Given the description of an element on the screen output the (x, y) to click on. 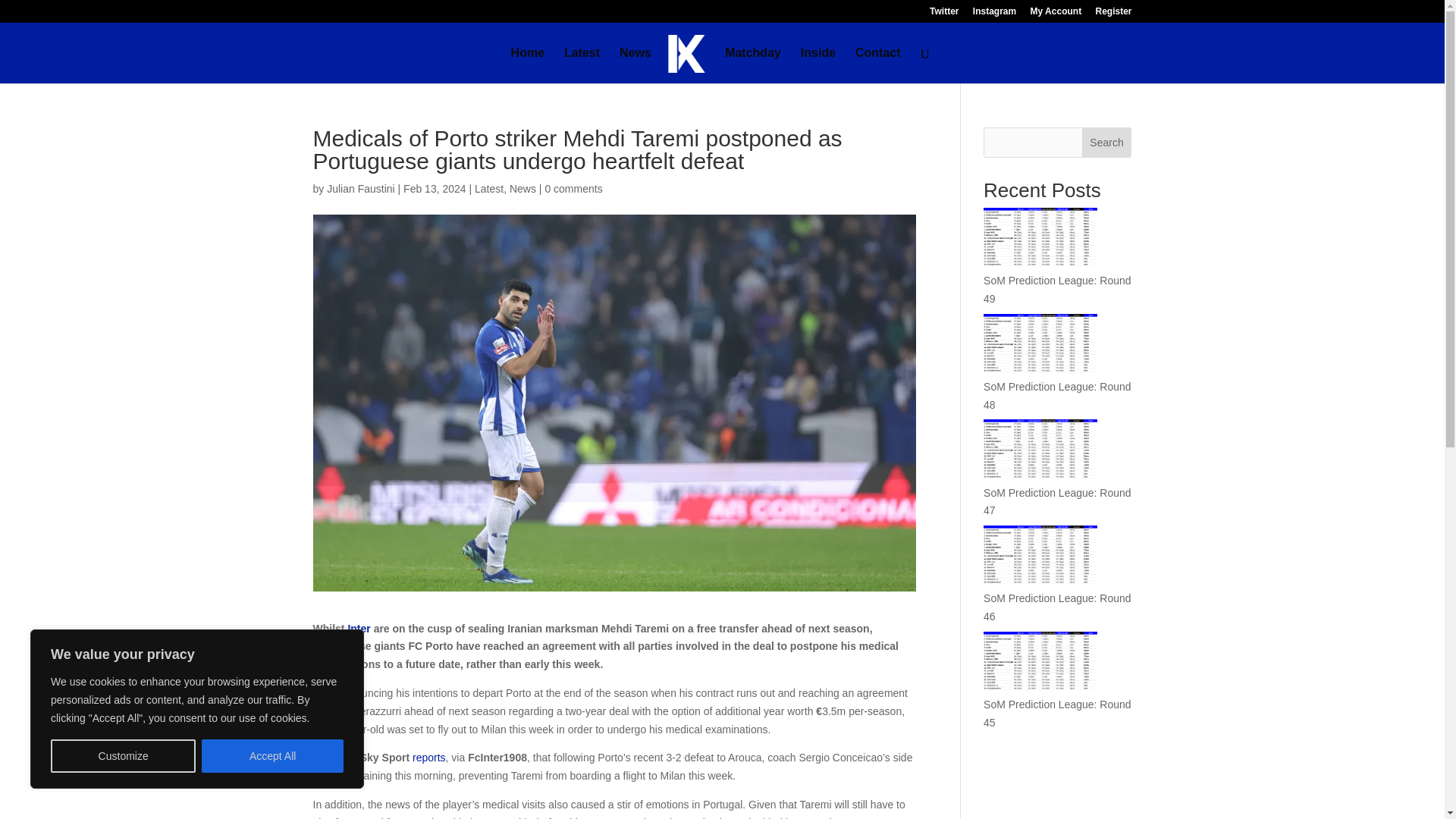
News (635, 65)
Latest (581, 65)
Contact (878, 65)
My Account (1055, 14)
Customize (122, 756)
Twitter (944, 14)
Accept All (272, 756)
Matchday (752, 65)
Julian Faustini (360, 188)
News (522, 188)
Home (527, 65)
reports (428, 757)
0 comments (573, 188)
Inside (817, 65)
Latest (488, 188)
